Given the description of an element on the screen output the (x, y) to click on. 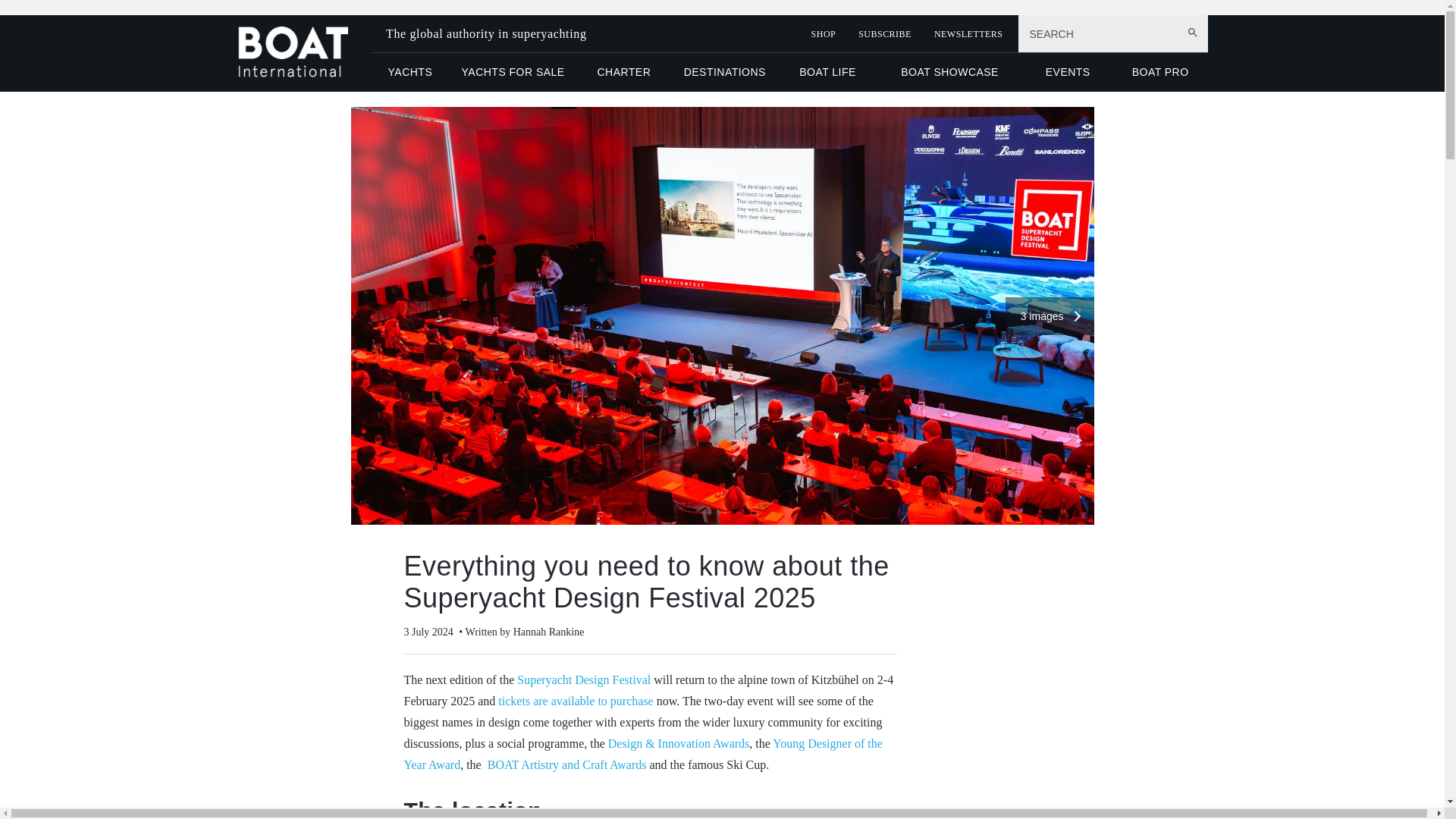
YACHTS FOR SALE (512, 71)
SUBSCRIBE (885, 33)
CHARTER (623, 71)
DESTINATIONS (724, 71)
YACHTS (410, 71)
NEWSLETTERS (968, 33)
SHOP (822, 33)
